Given the description of an element on the screen output the (x, y) to click on. 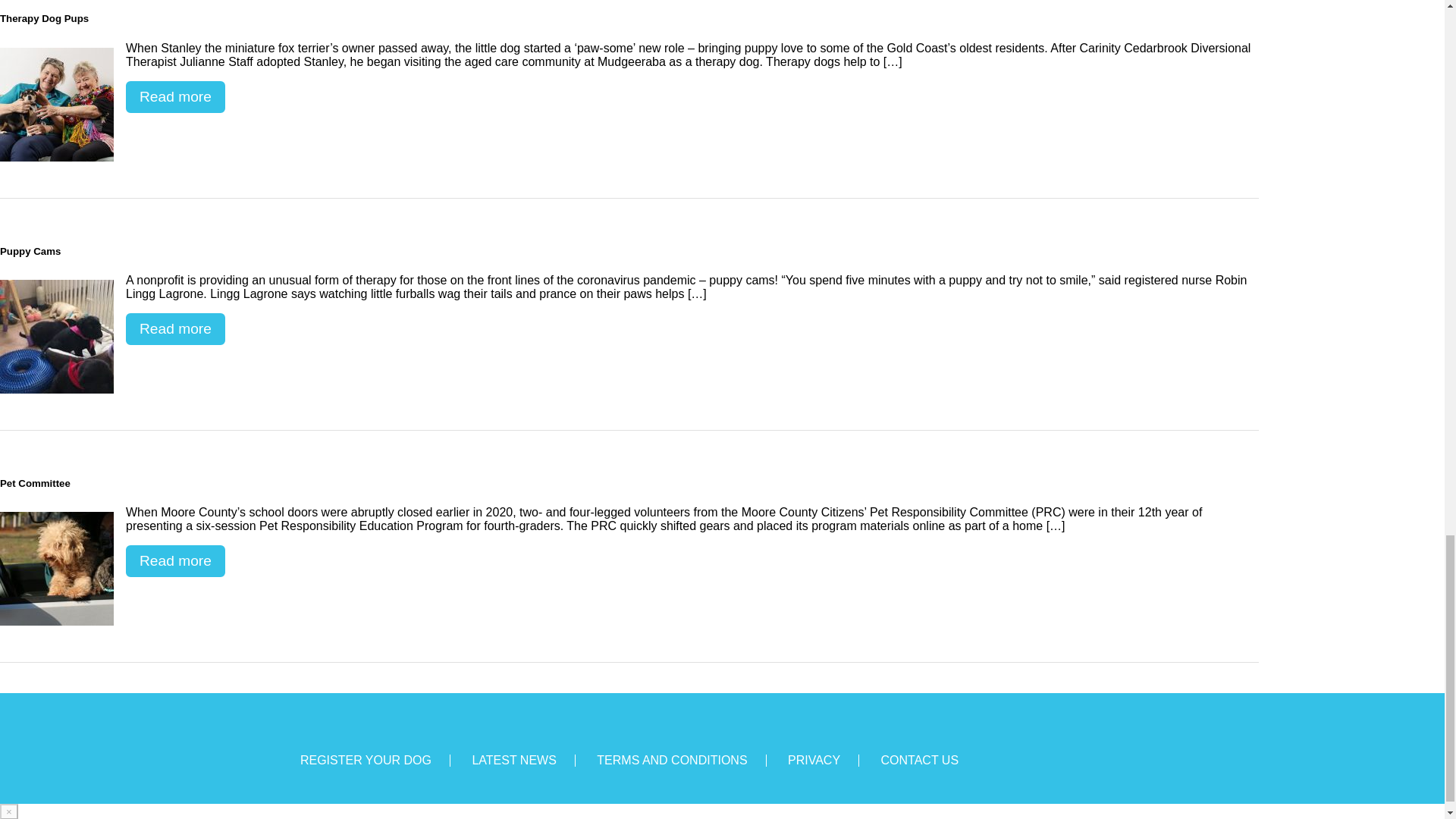
PRIVACY (813, 759)
Read more (175, 561)
LATEST NEWS (513, 759)
REGISTER YOUR DOG (364, 759)
CONTACT US (919, 759)
Therapy Dog Pups (56, 104)
Puppy Cams (56, 336)
TERMS AND CONDITIONS (671, 759)
Pet Committee (56, 568)
Read more (175, 97)
Read more (175, 328)
